Given the description of an element on the screen output the (x, y) to click on. 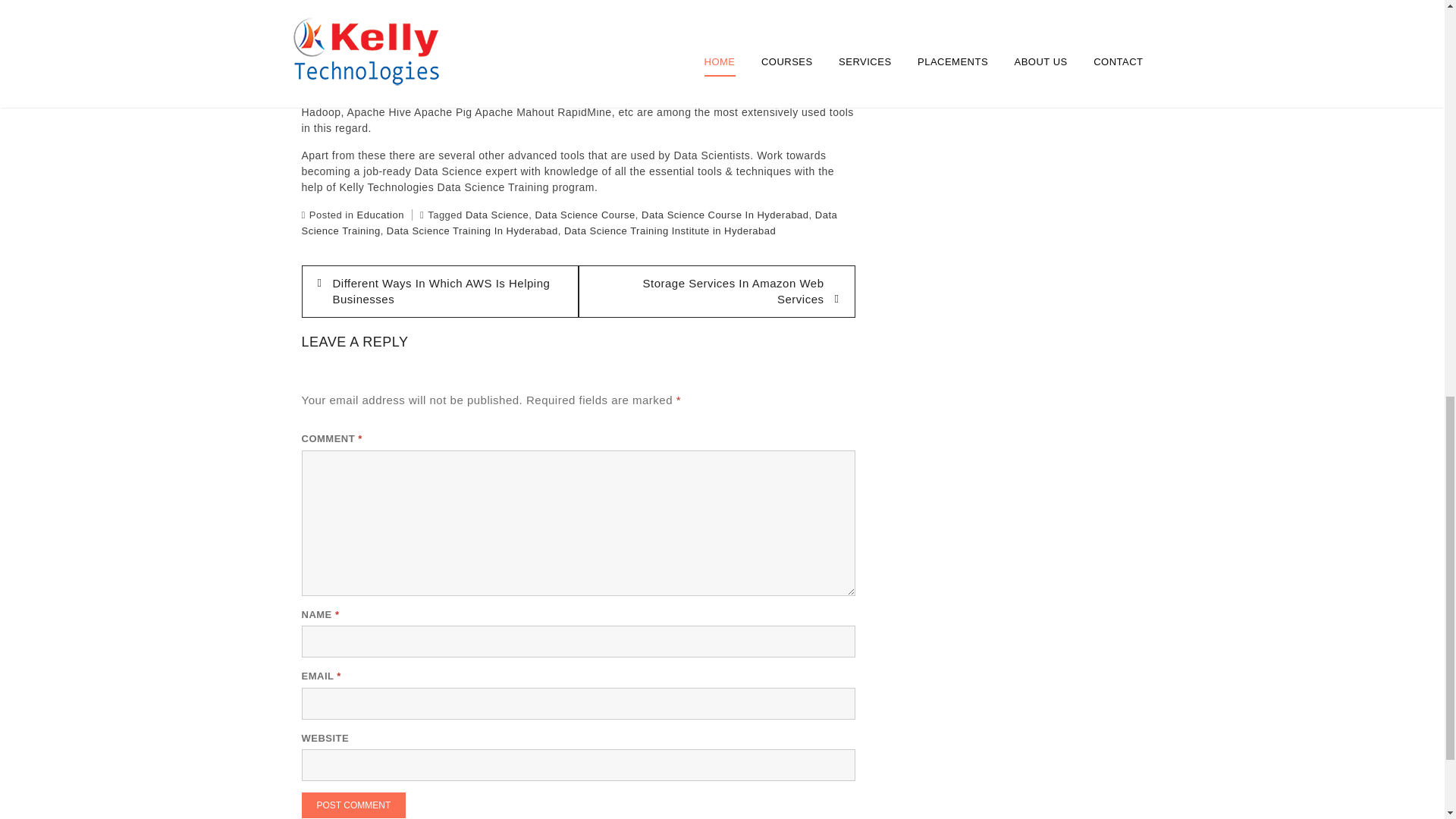
Education (380, 214)
Data Science Training Institute in Hyderabad (670, 230)
Data Science Course (584, 214)
Post Comment (353, 805)
Data Science Training (569, 222)
Data Science Training In Hyderabad (472, 230)
Different Ways In Which AWS Is Helping Businesses (439, 291)
Data Science (496, 214)
Data Science Course In Hyderabad (725, 214)
